Given the description of an element on the screen output the (x, y) to click on. 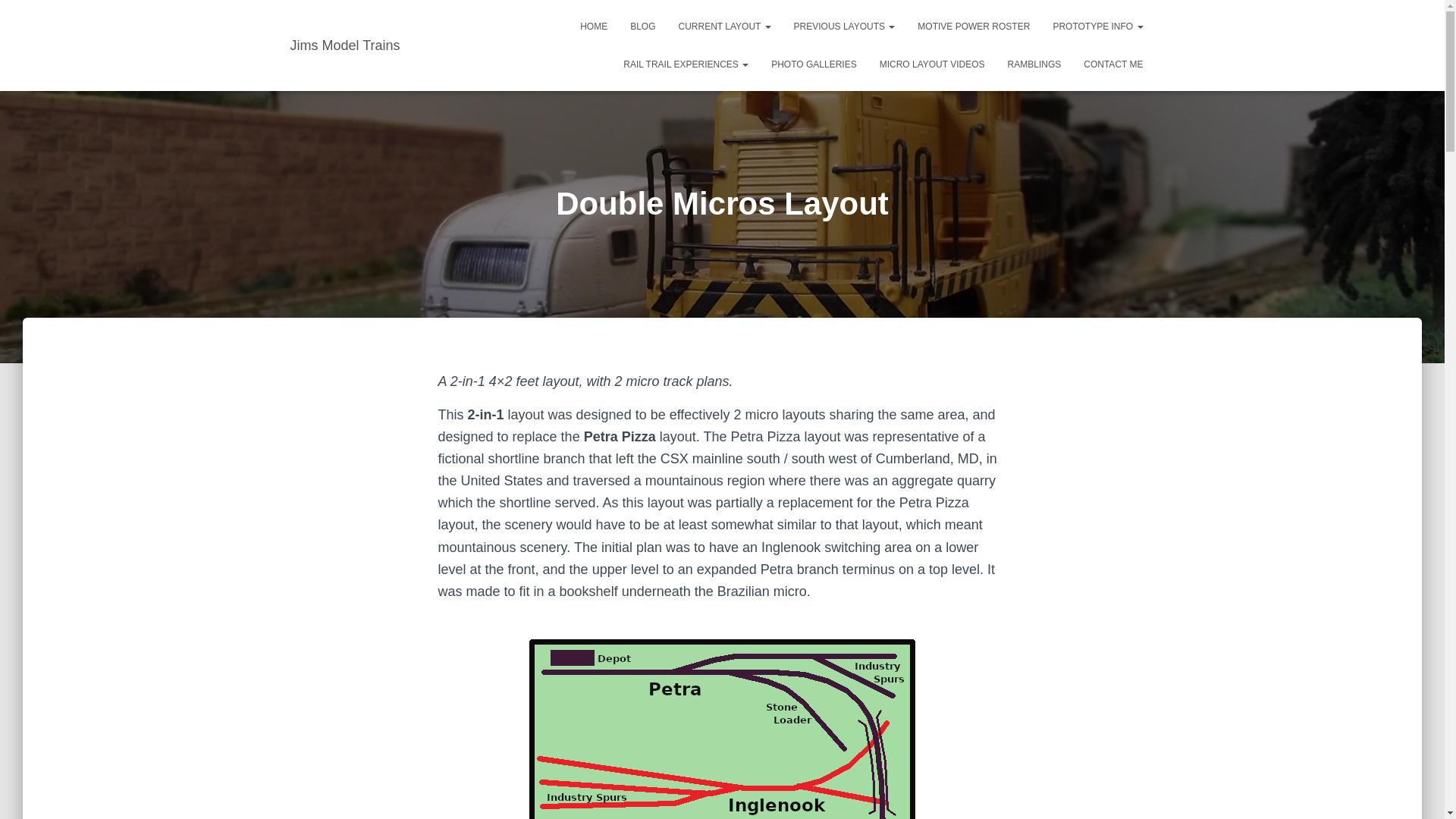
MOTIVE POWER ROSTER (973, 26)
PREVIOUS LAYOUTS (845, 26)
BLOG (642, 26)
Home (593, 26)
Jims Model Trains (345, 45)
PROTOTYPE INFO (1097, 26)
HOME (593, 26)
CURRENT LAYOUT (724, 26)
Blog (642, 26)
PHOTO GALLERIES (813, 64)
